Given the description of an element on the screen output the (x, y) to click on. 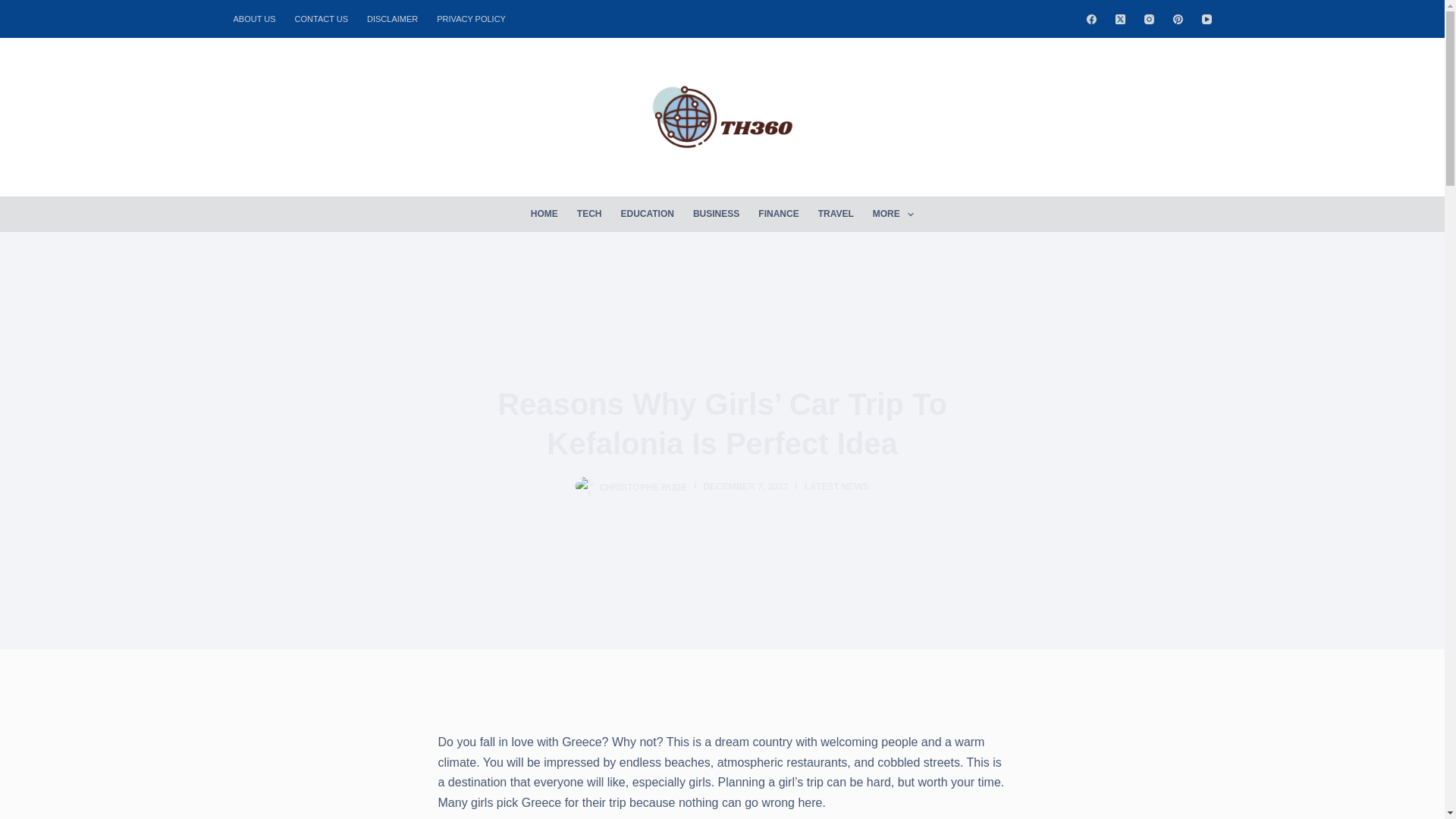
CONTACT US (321, 18)
Skip to content (15, 7)
DISCLAIMER (393, 18)
ABOUT US (258, 18)
MORE (893, 213)
PRIVACY POLICY (471, 18)
EDUCATION (646, 213)
TECH (589, 213)
Posts by Christophe Rude (642, 486)
TRAVEL (835, 213)
